Given the description of an element on the screen output the (x, y) to click on. 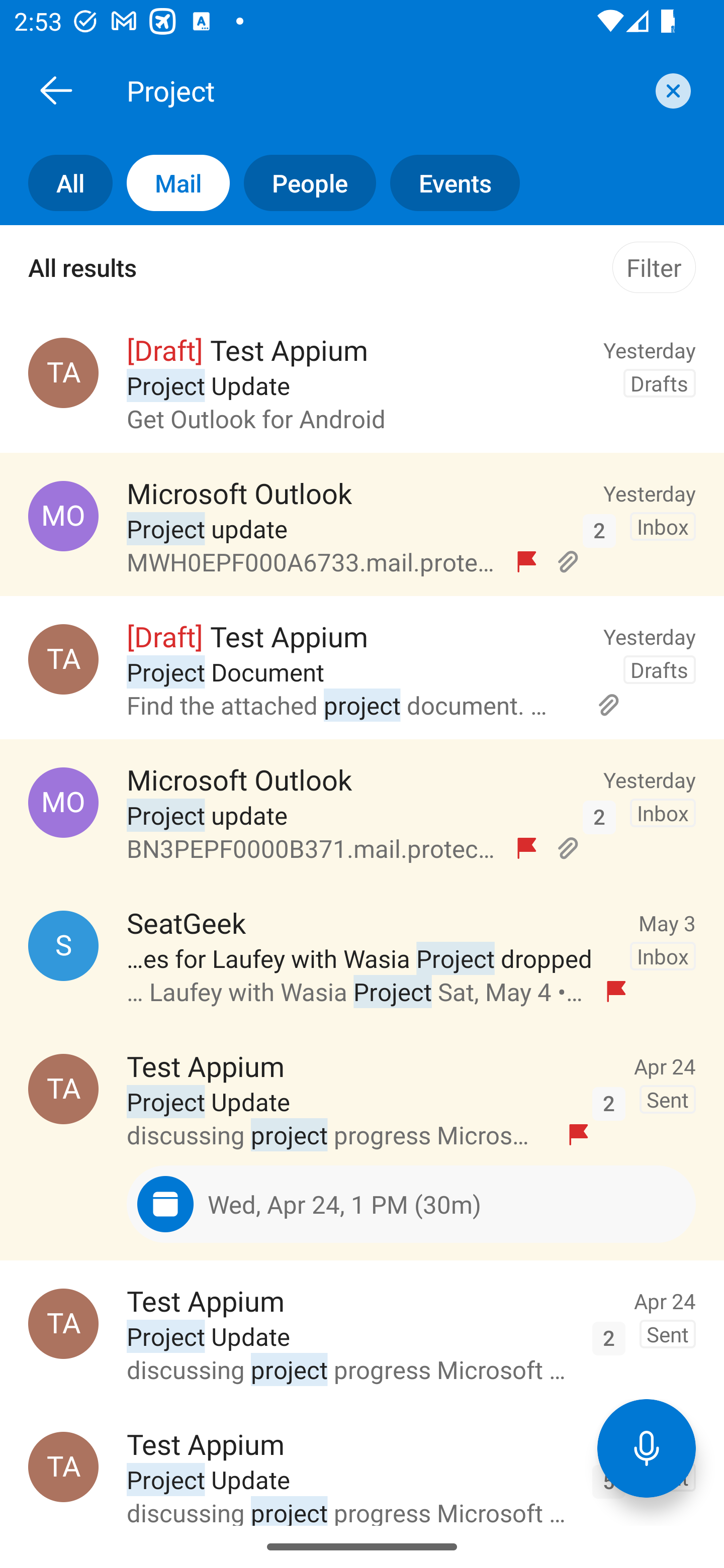
Back (55, 89)
Project (384, 89)
clear search (670, 90)
All (56, 183)
People (302, 183)
Events (447, 183)
Filter (653, 267)
Voice Assistant (646, 1447)
